Given the description of an element on the screen output the (x, y) to click on. 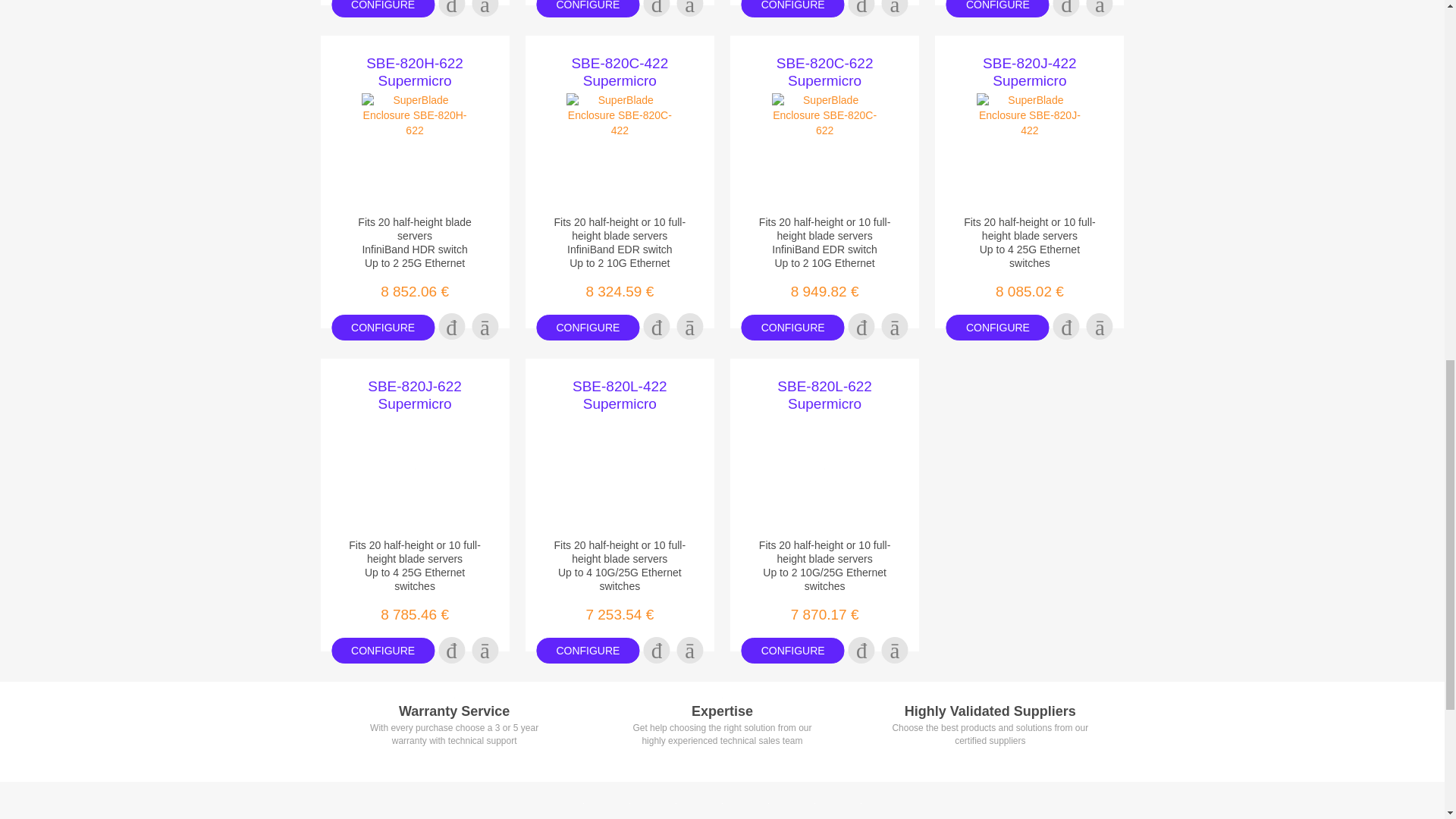
Add to Compare (690, 8)
SBE-820H-622 Supermicro SuperBlade Enclosure (414, 71)
Add to Compare (895, 8)
Add to Compare (1099, 8)
Add to Compare (484, 8)
